Given the description of an element on the screen output the (x, y) to click on. 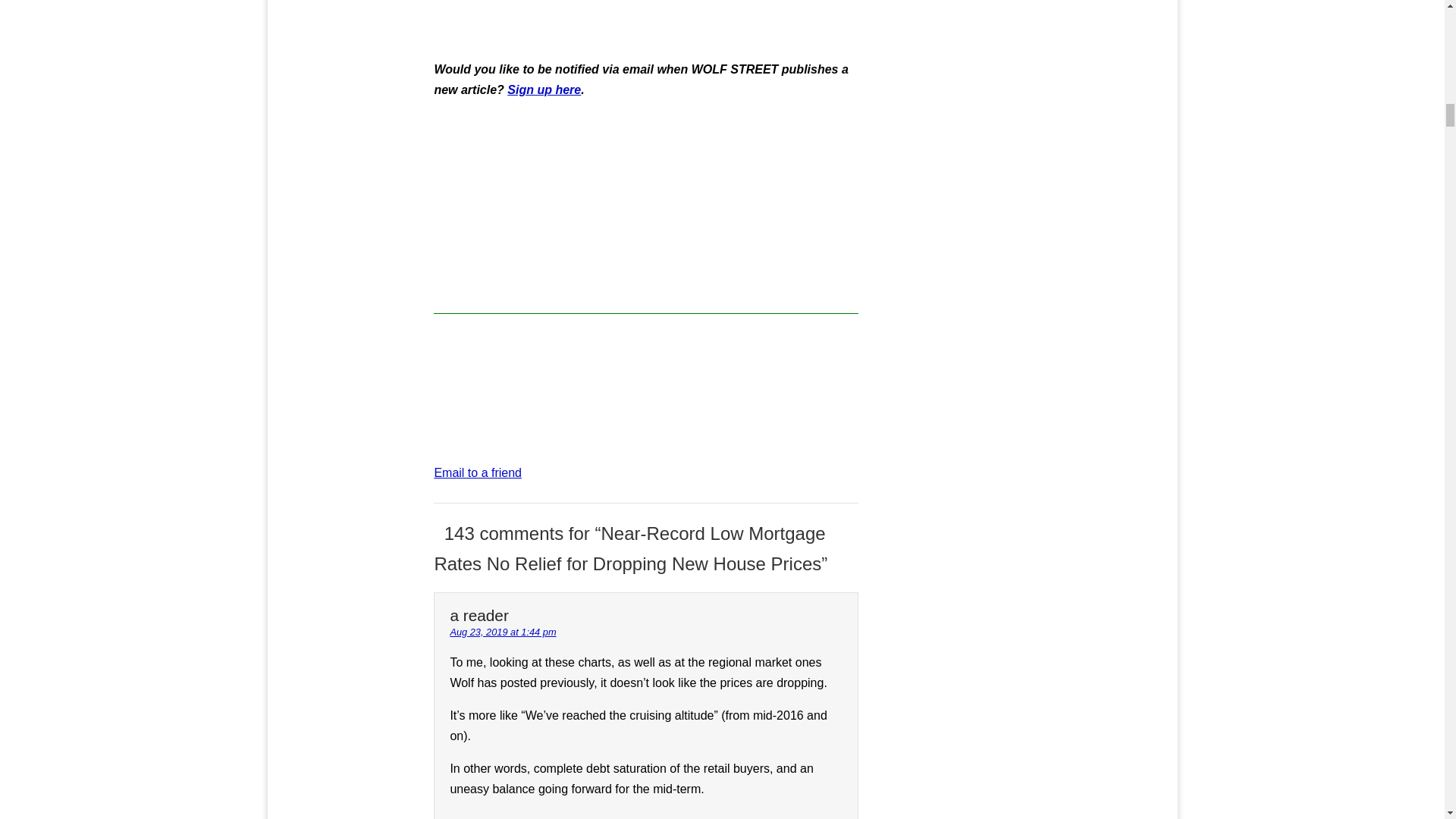
Email to a friend (477, 472)
Sign up here (543, 89)
